Given the description of an element on the screen output the (x, y) to click on. 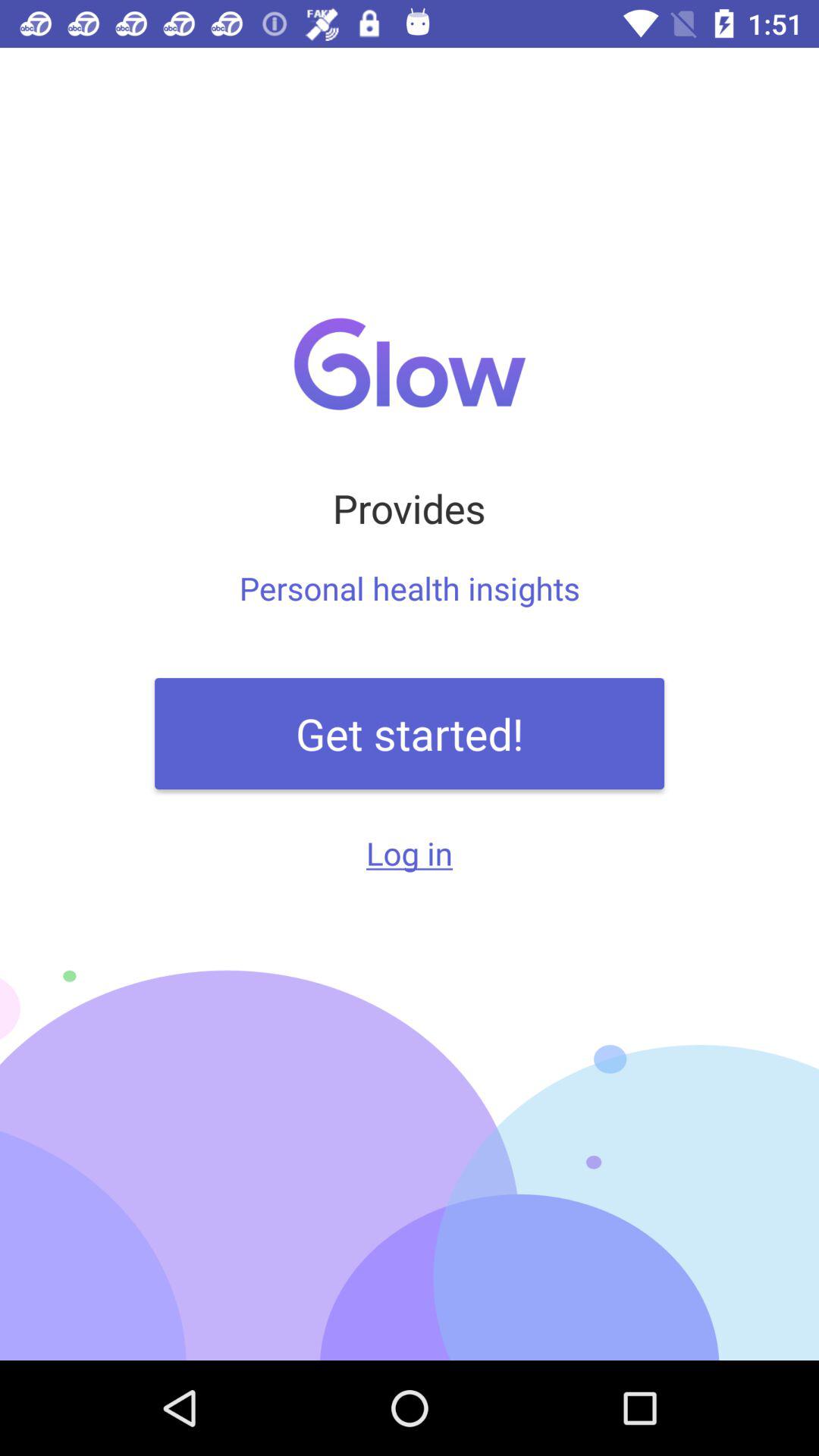
tap the item below the a shared journey item (409, 733)
